Given the description of an element on the screen output the (x, y) to click on. 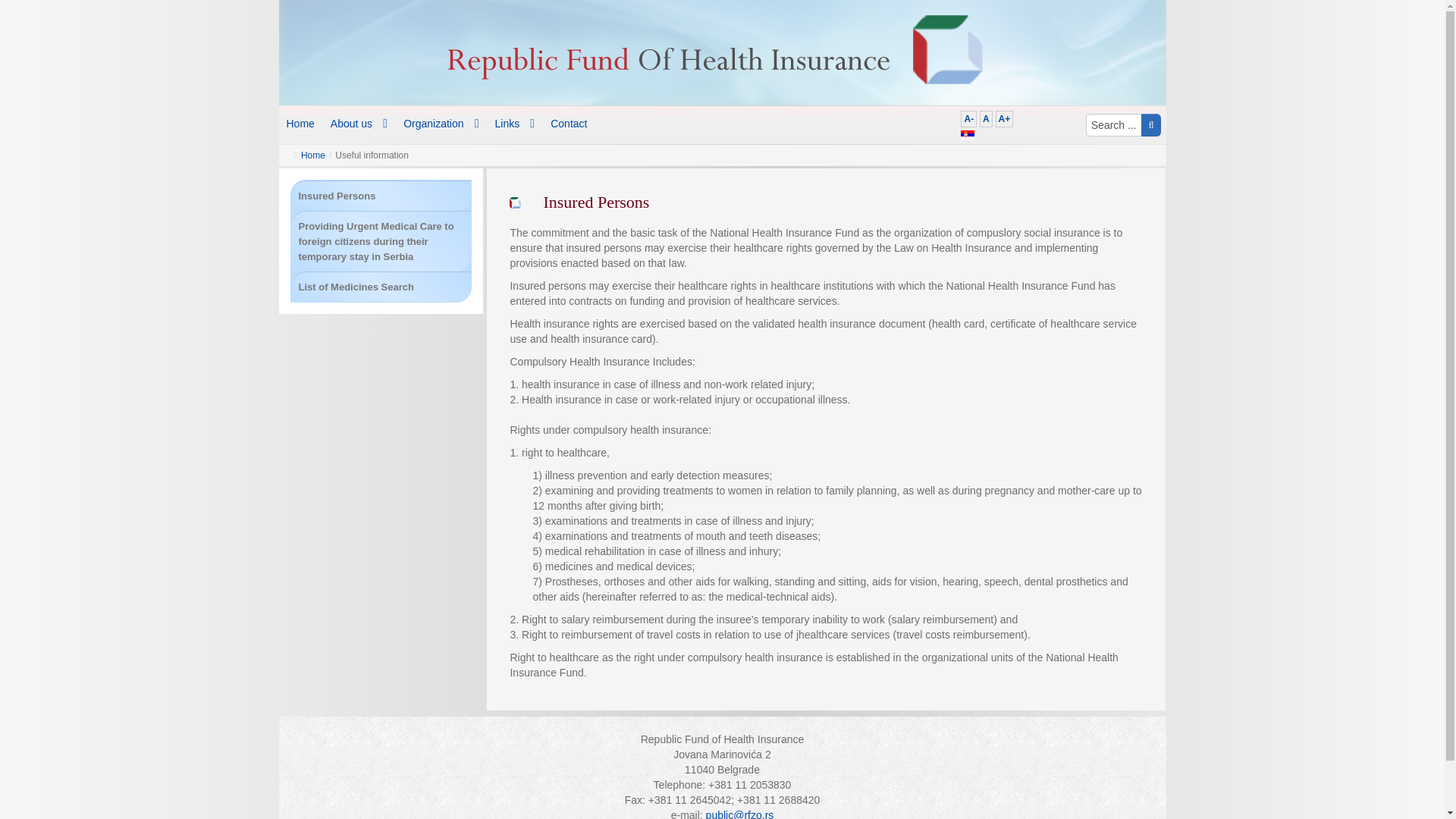
Organization (441, 120)
Home (301, 108)
Home (312, 154)
Contact (569, 123)
Search ... (1113, 124)
Insured Persons (337, 195)
Links (515, 123)
A- (968, 118)
About us (359, 109)
